Given the description of an element on the screen output the (x, y) to click on. 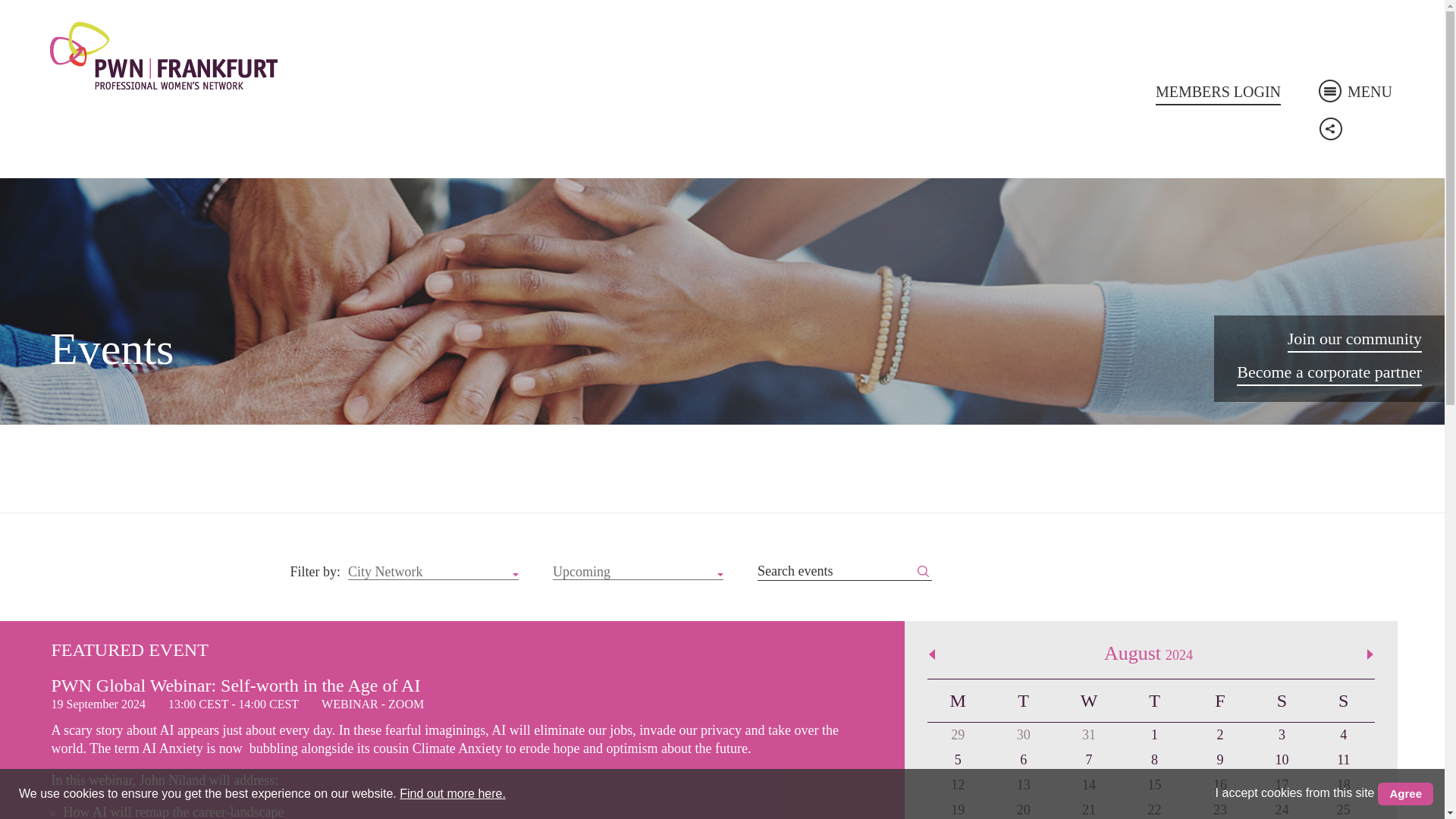
MENU (1355, 90)
View our privacy policy page (451, 793)
